Given the description of an element on the screen output the (x, y) to click on. 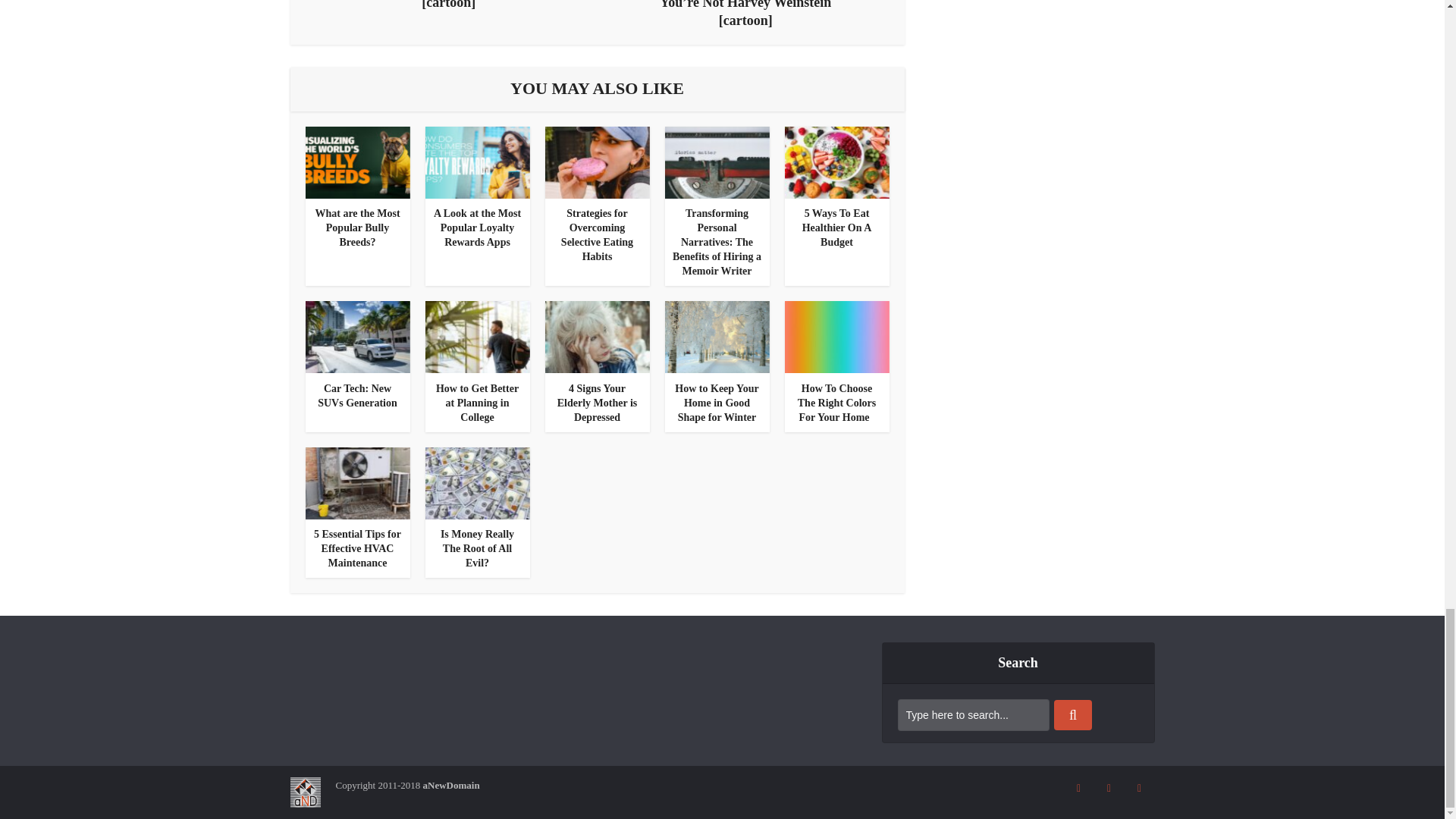
How to Get Better at Planning in College (477, 336)
5 Ways To Eat Healthier On A Budget (836, 162)
How to Get Better at Planning in College (476, 403)
A Look at the Most Popular Loyalty Rewards Apps (477, 228)
Car Tech: New SUVs Generation (357, 395)
What are the Most Popular Bully Breeds? (356, 228)
Type here to search... (973, 715)
Strategies for Overcoming Selective Eating Habits (596, 235)
Strategies for Overcoming Selective Eating Habits (596, 235)
4 Signs Your Elderly Mother is Depressed (596, 336)
5 Ways To Eat Healthier On A Budget (837, 228)
Strategies for Overcoming Selective Eating Habits (596, 162)
4 Signs Your Elderly Mother is Depressed (597, 403)
What are the Most Popular Bully Breeds? (356, 228)
Type here to search... (973, 715)
